Given the description of an element on the screen output the (x, y) to click on. 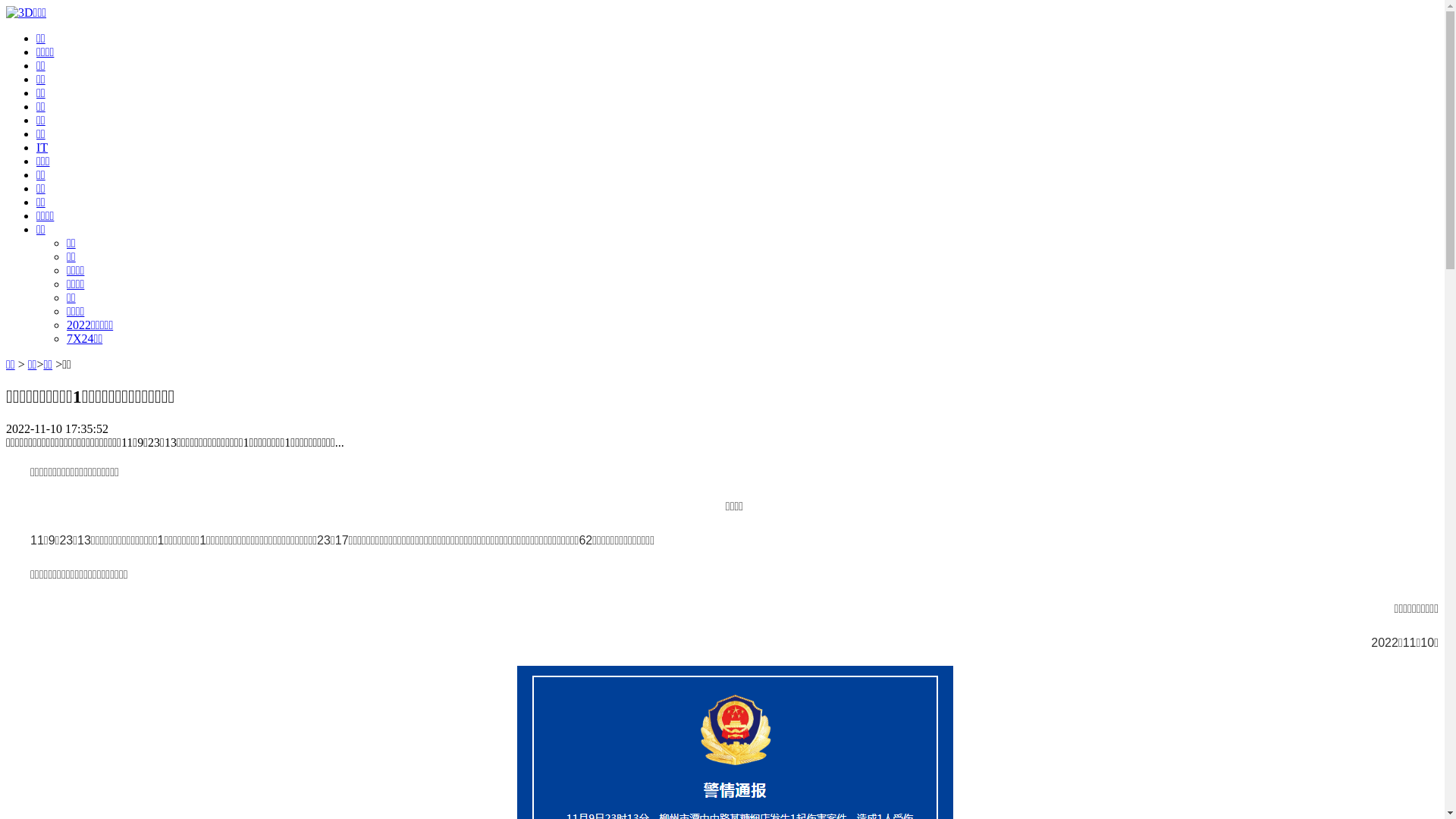
IT Element type: text (41, 147)
